Given the description of an element on the screen output the (x, y) to click on. 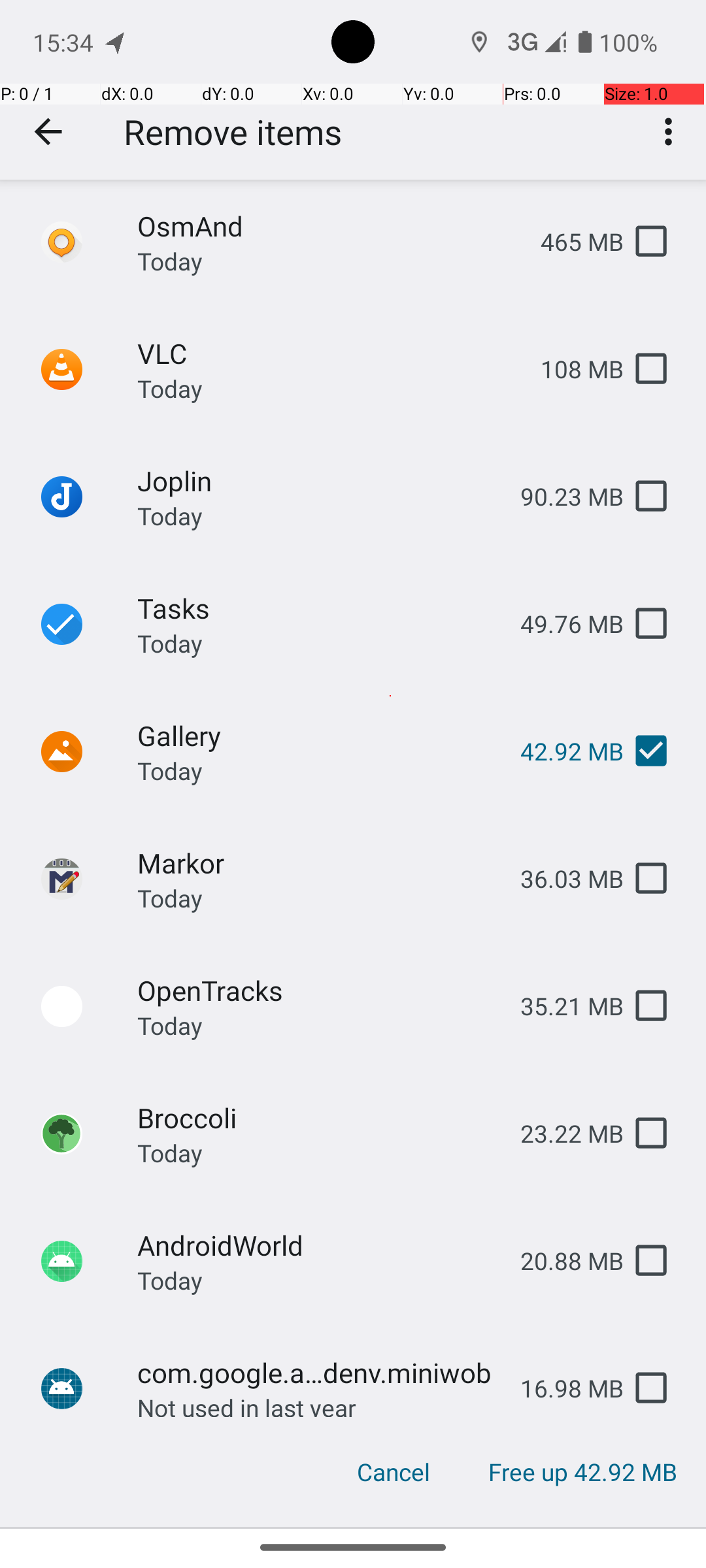
Remove items Element type: android.widget.TextView (232, 131)
Free up 42.92 MB Element type: android.widget.Button (582, 1471)
OsmAnd Element type: android.widget.TextView (328, 225)
465 MB Element type: android.widget.TextView (571, 241)
108 MB Element type: android.widget.TextView (571, 368)
90.23 MB Element type: android.widget.TextView (561, 495)
49.76 MB Element type: android.widget.TextView (561, 623)
42.92 MB Element type: android.widget.TextView (561, 750)
36.03 MB Element type: android.widget.TextView (561, 878)
35.21 MB Element type: android.widget.TextView (561, 1005)
23.22 MB Element type: android.widget.TextView (561, 1132)
AndroidWorld Element type: android.widget.TextView (318, 1244)
20.88 MB Element type: android.widget.TextView (561, 1260)
com.google.androidenv.miniwob Element type: android.widget.TextView (318, 1371)
Not used in last year Element type: android.widget.TextView (246, 1403)
16.98 MB Element type: android.widget.TextView (561, 1387)
